Given the description of an element on the screen output the (x, y) to click on. 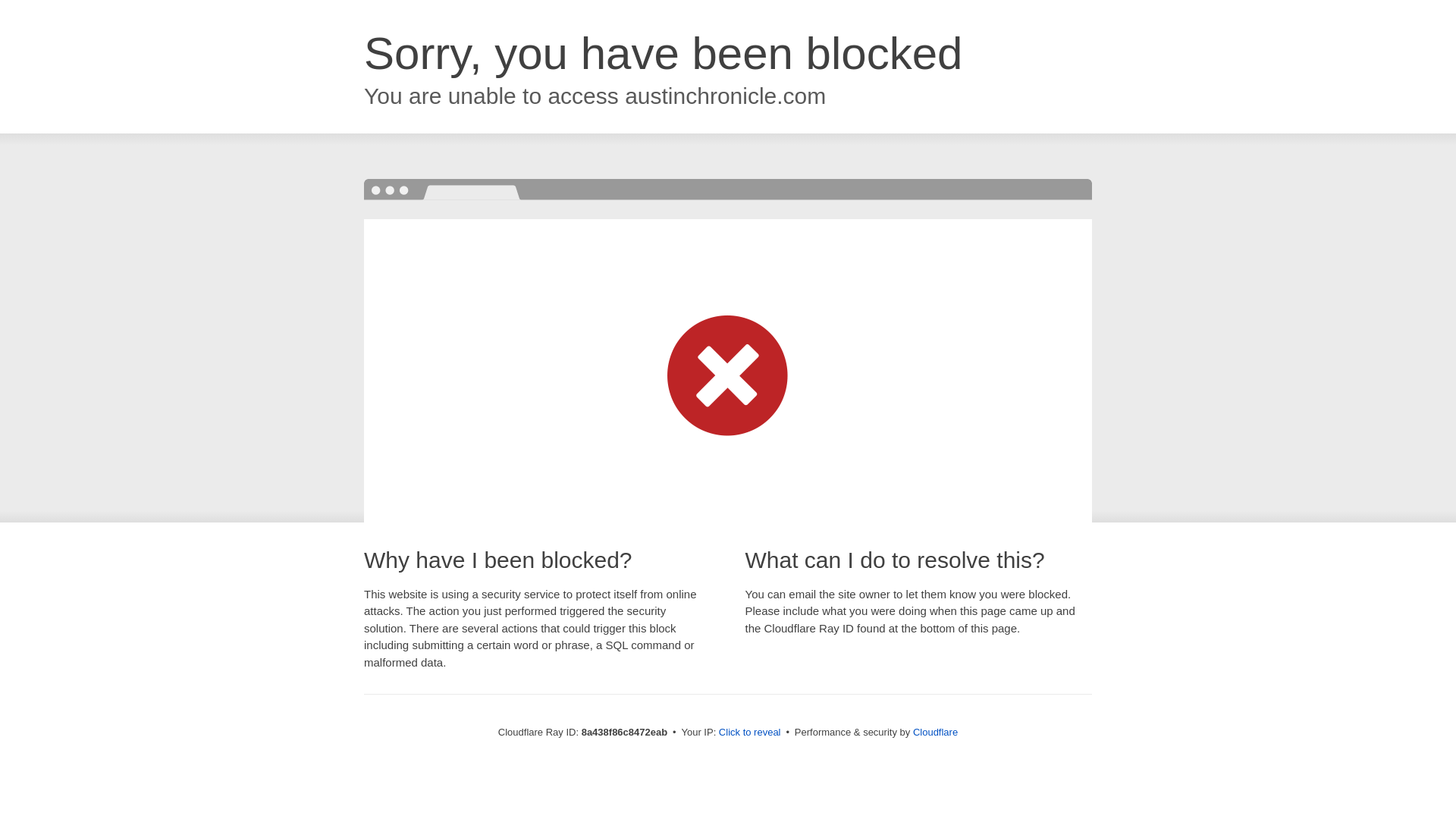
Cloudflare (935, 731)
Click to reveal (749, 732)
